Given the description of an element on the screen output the (x, y) to click on. 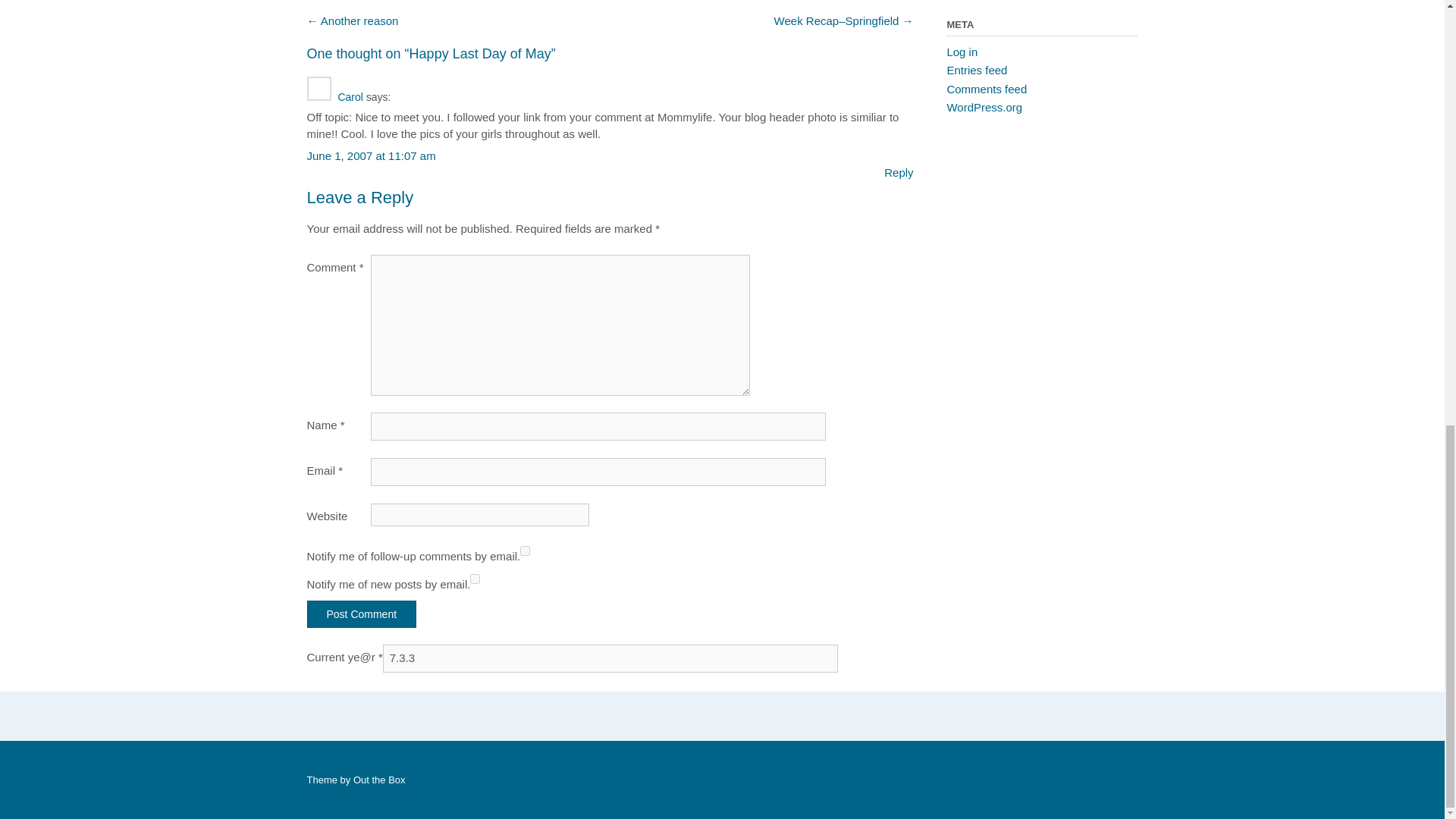
subscribe (524, 551)
Reply (897, 172)
subscribe (475, 578)
June 1, 2007 at 11:07 am (370, 155)
Carol (349, 96)
7.3.3 (610, 658)
Post Comment (360, 614)
Post Comment (360, 614)
